Given the description of an element on the screen output the (x, y) to click on. 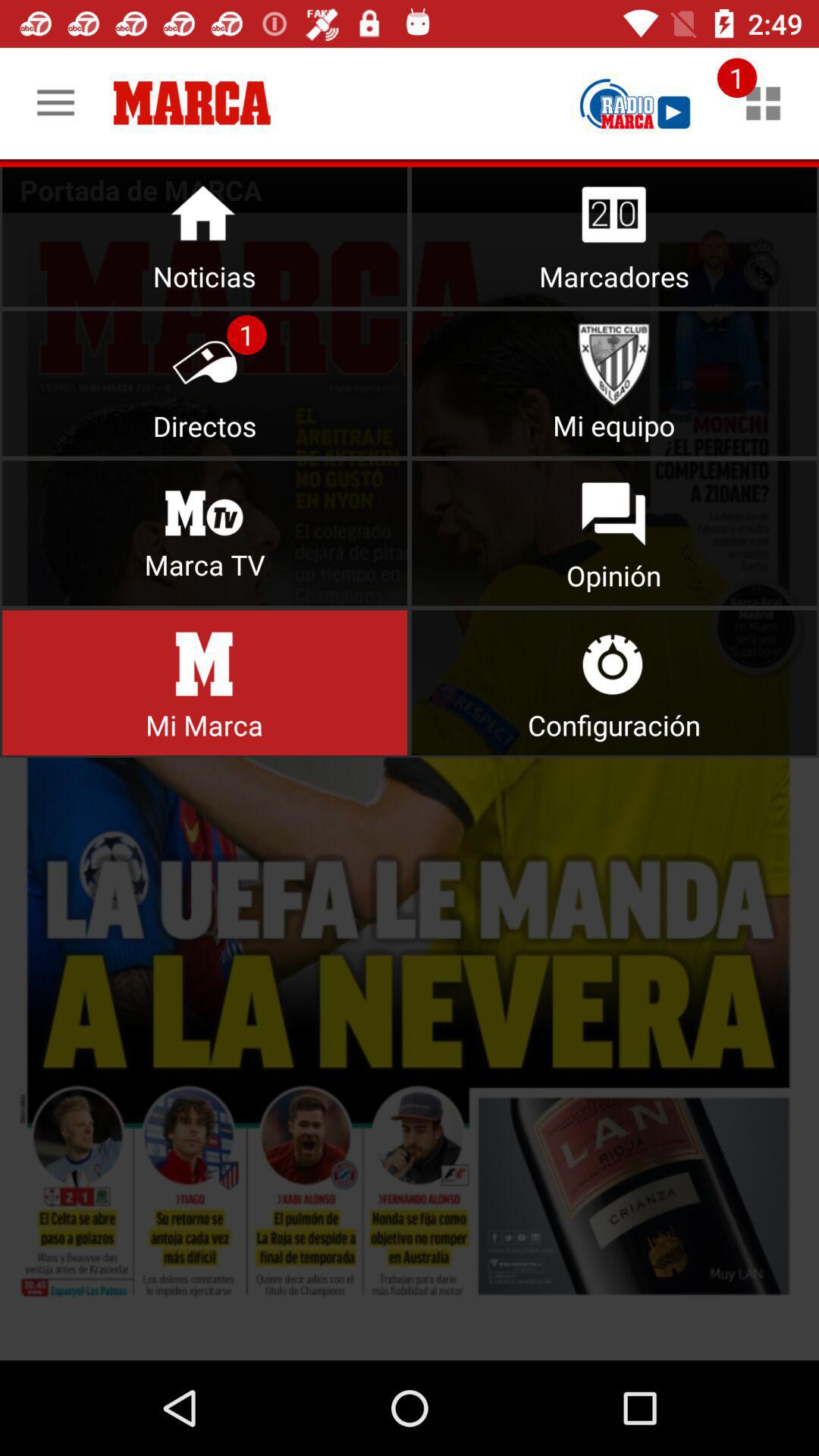
open notifications (763, 103)
